Given the description of an element on the screen output the (x, y) to click on. 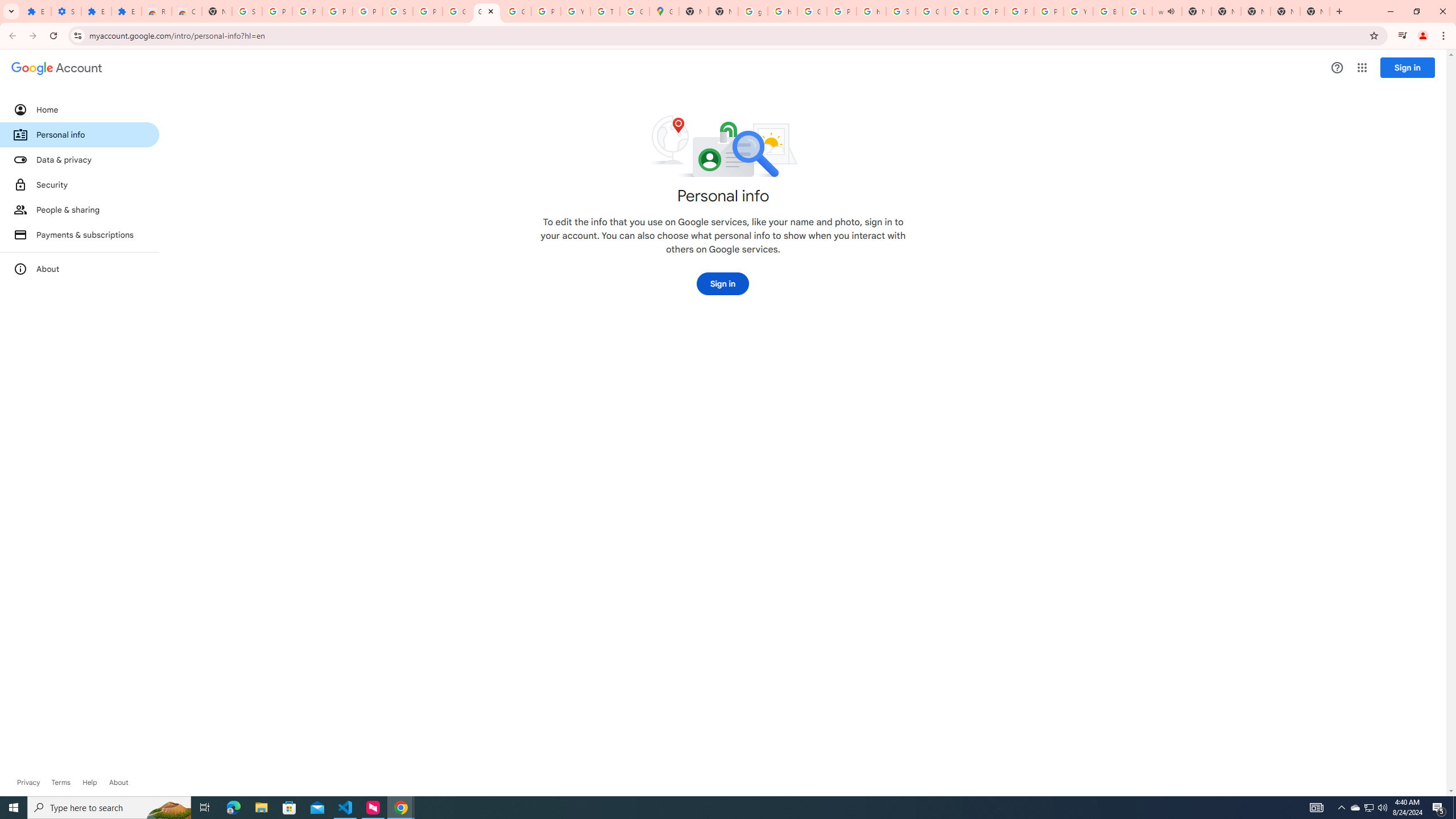
Learn more about Google Account (118, 782)
YouTube (1077, 11)
New Tab (216, 11)
People & sharing (79, 209)
https://scholar.google.com/ (871, 11)
Privacy Help Center - Policies Help (989, 11)
Google Maps (664, 11)
